Given the description of an element on the screen output the (x, y) to click on. 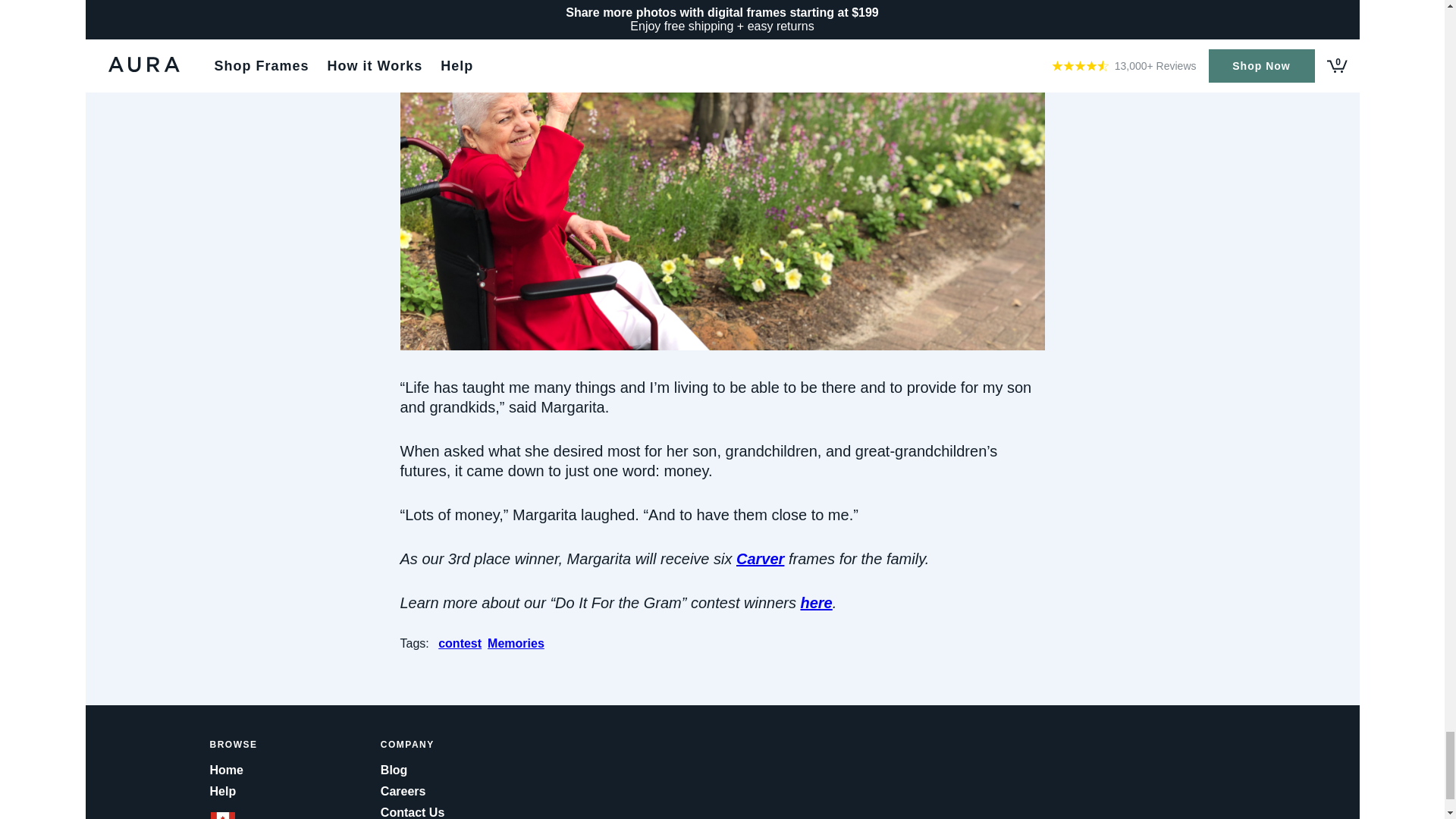
Help (294, 791)
Memories (518, 643)
contest (462, 643)
Carver (760, 558)
Home (294, 770)
here (816, 602)
